Given the description of an element on the screen output the (x, y) to click on. 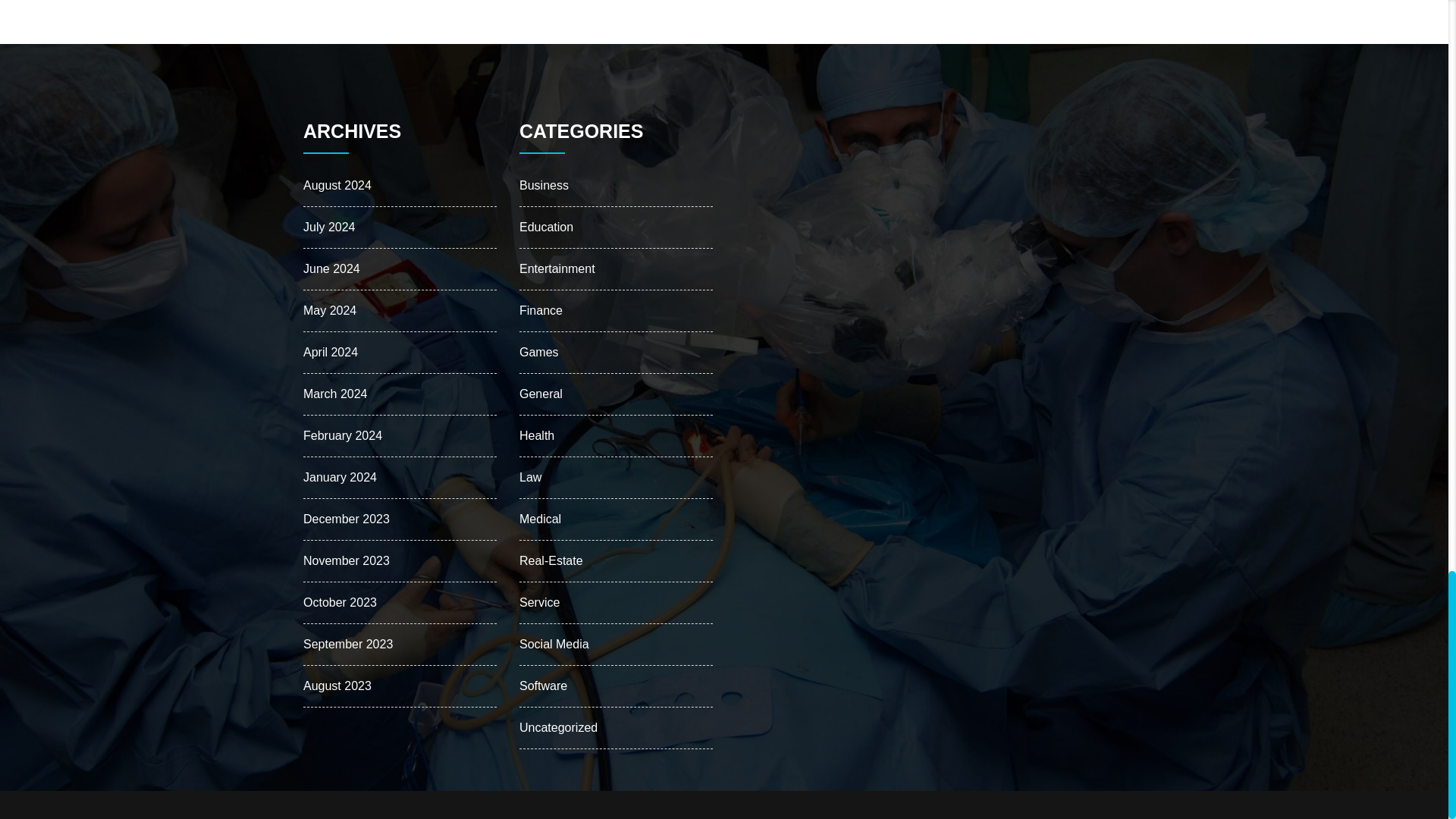
August 2024 (336, 185)
July 2024 (328, 226)
June 2024 (330, 268)
